Given the description of an element on the screen output the (x, y) to click on. 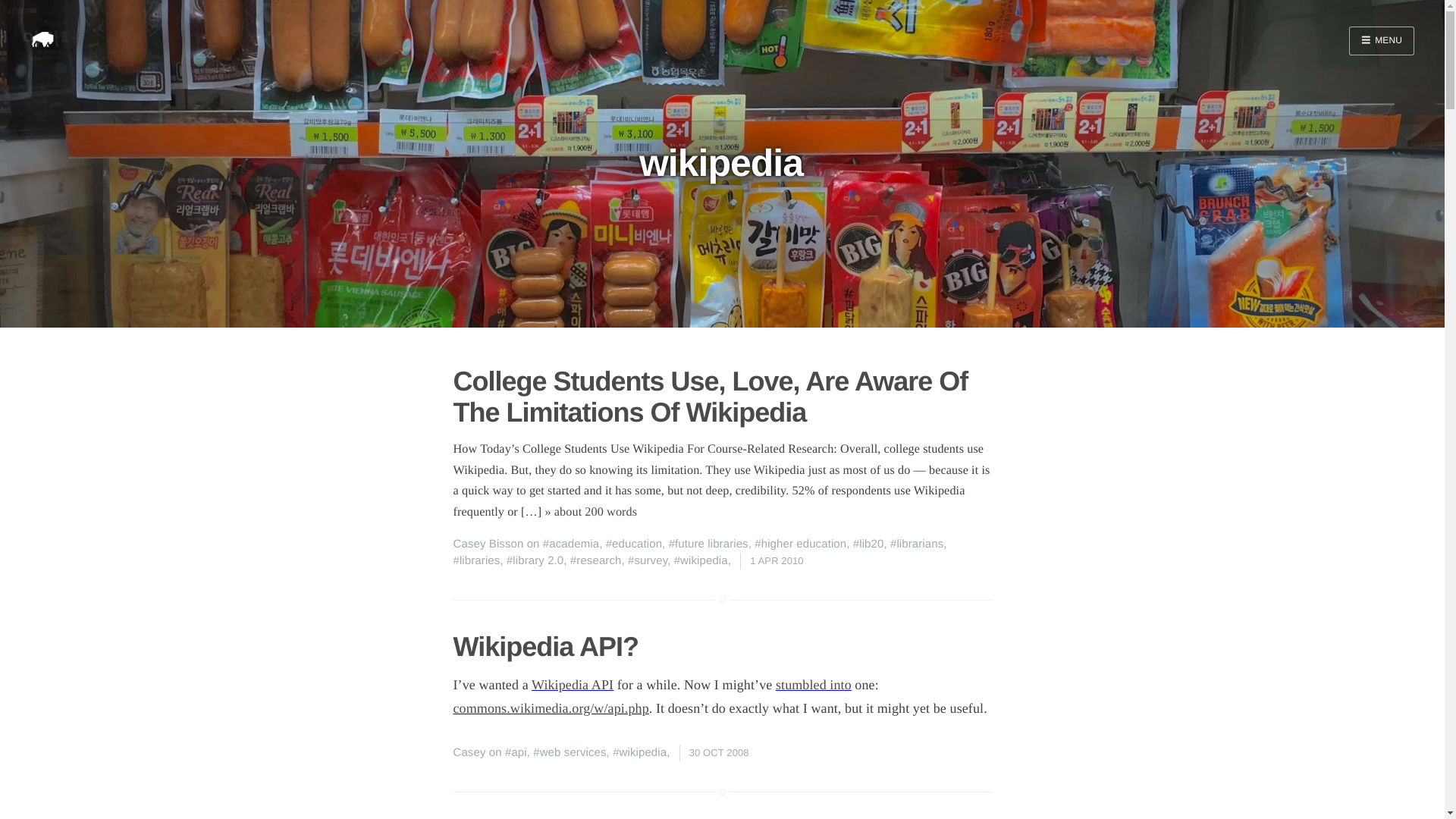
Wikipedia API? (545, 645)
Wikipedia API (571, 684)
stumbled into (813, 684)
Reusing content outside Wikimedia - Wikimedia Commons (813, 684)
